Given the description of an element on the screen output the (x, y) to click on. 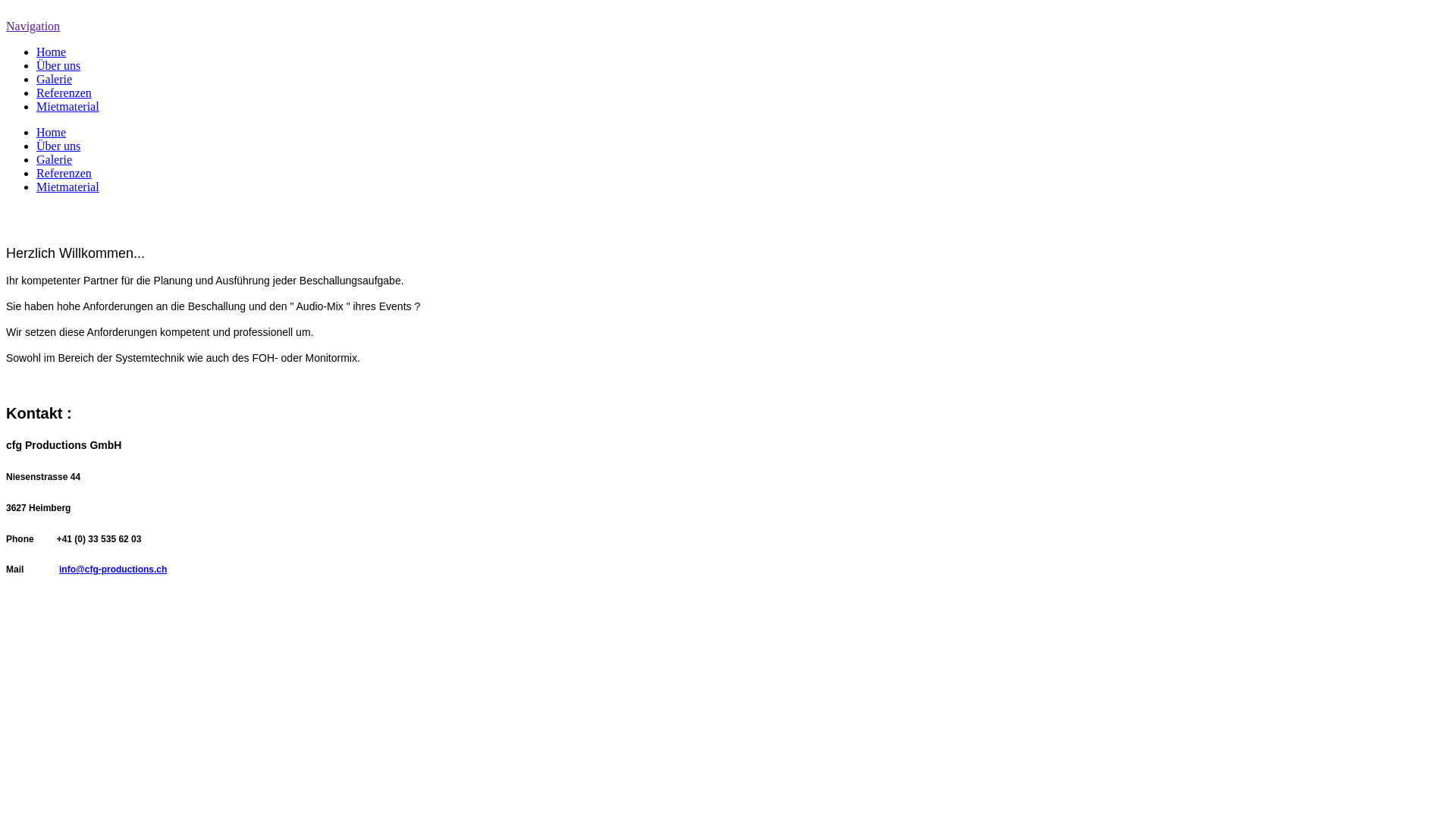
Galerie Element type: text (54, 159)
Home Element type: text (50, 51)
Referenzen Element type: text (63, 92)
Mietmaterial Element type: text (67, 186)
Mietmaterial Element type: text (67, 106)
Galerie Element type: text (54, 78)
info@cfg-productions.ch Element type: text (112, 569)
Home Element type: text (50, 131)
Navigation Element type: text (32, 25)
Referenzen Element type: text (63, 172)
